Given the description of an element on the screen output the (x, y) to click on. 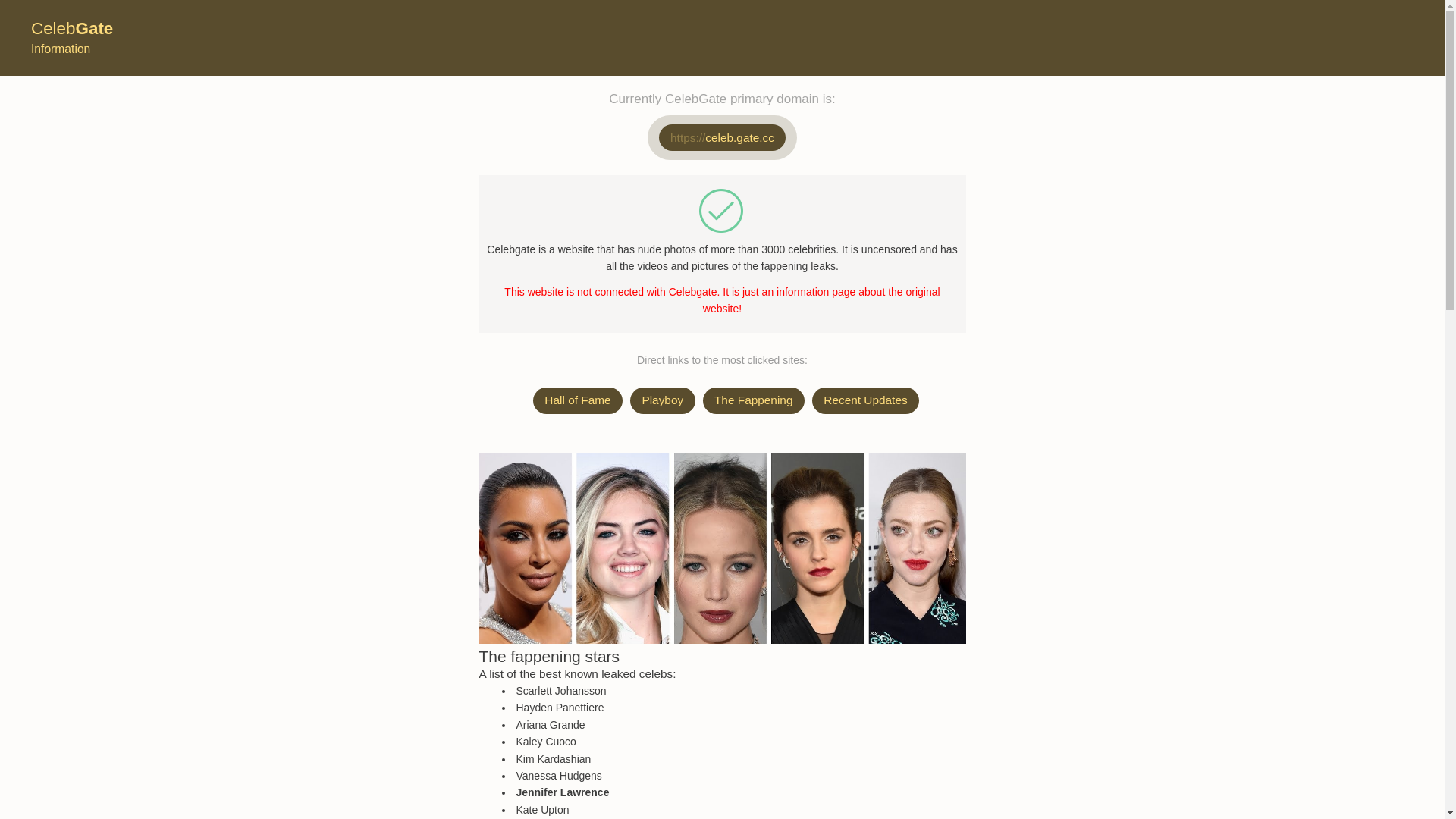
The Fappening Element type: text (753, 400)
CelebGate
Information Element type: text (71, 38)
https://celeb.gate.cc Element type: text (722, 137)
Playboy Element type: text (662, 400)
Hall of Fame Element type: text (577, 400)
Recent Updates Element type: text (865, 400)
